Given the description of an element on the screen output the (x, y) to click on. 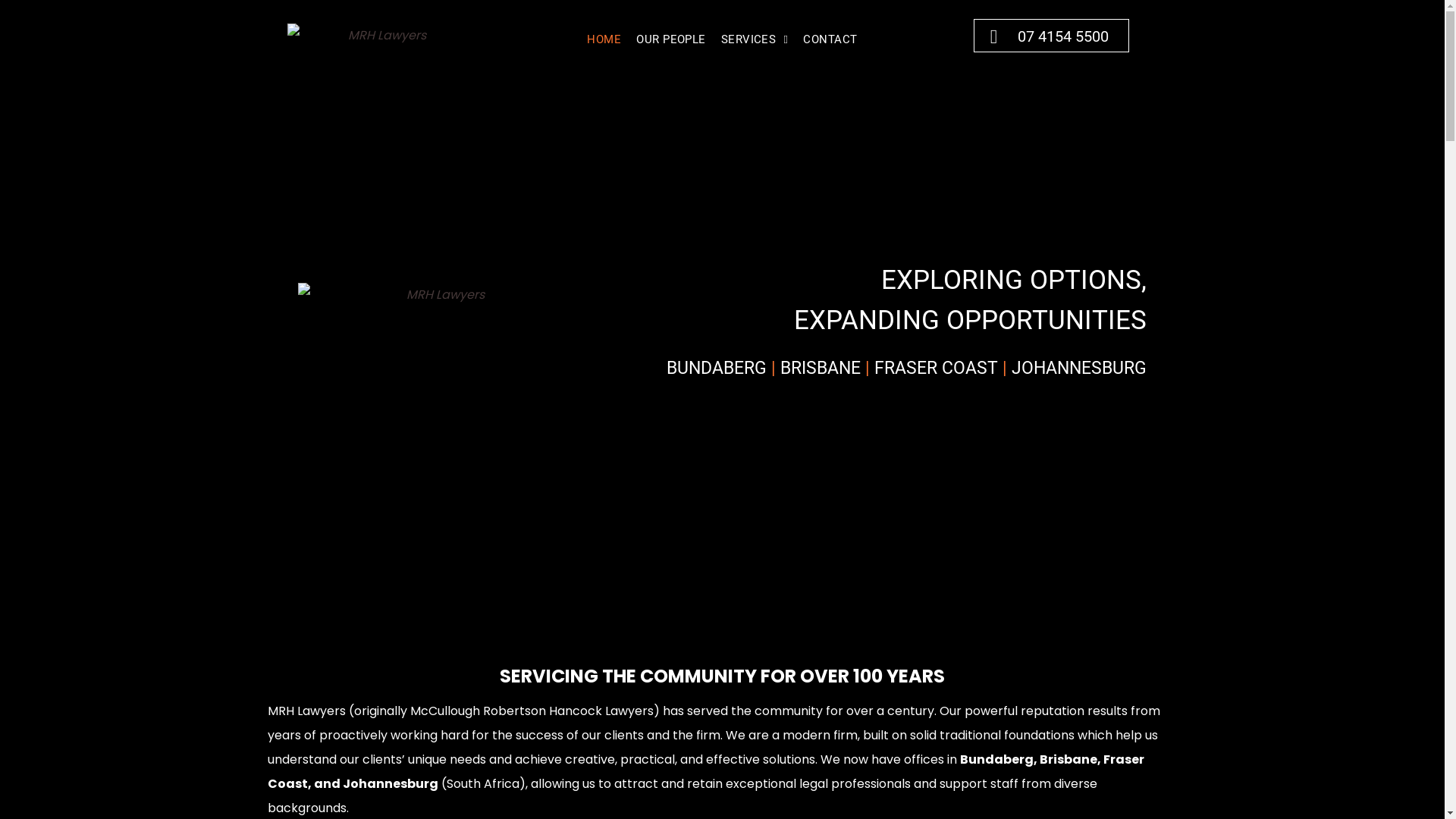
HOME Element type: text (603, 39)
07 4154 5500 Element type: text (1051, 35)
SERVICES Element type: text (754, 39)
OUR PEOPLE Element type: text (670, 39)
MRH Lawyers Element type: hover (438, 321)
MRH Lawyers Element type: hover (380, 35)
CONTACT Element type: text (829, 39)
